Given the description of an element on the screen output the (x, y) to click on. 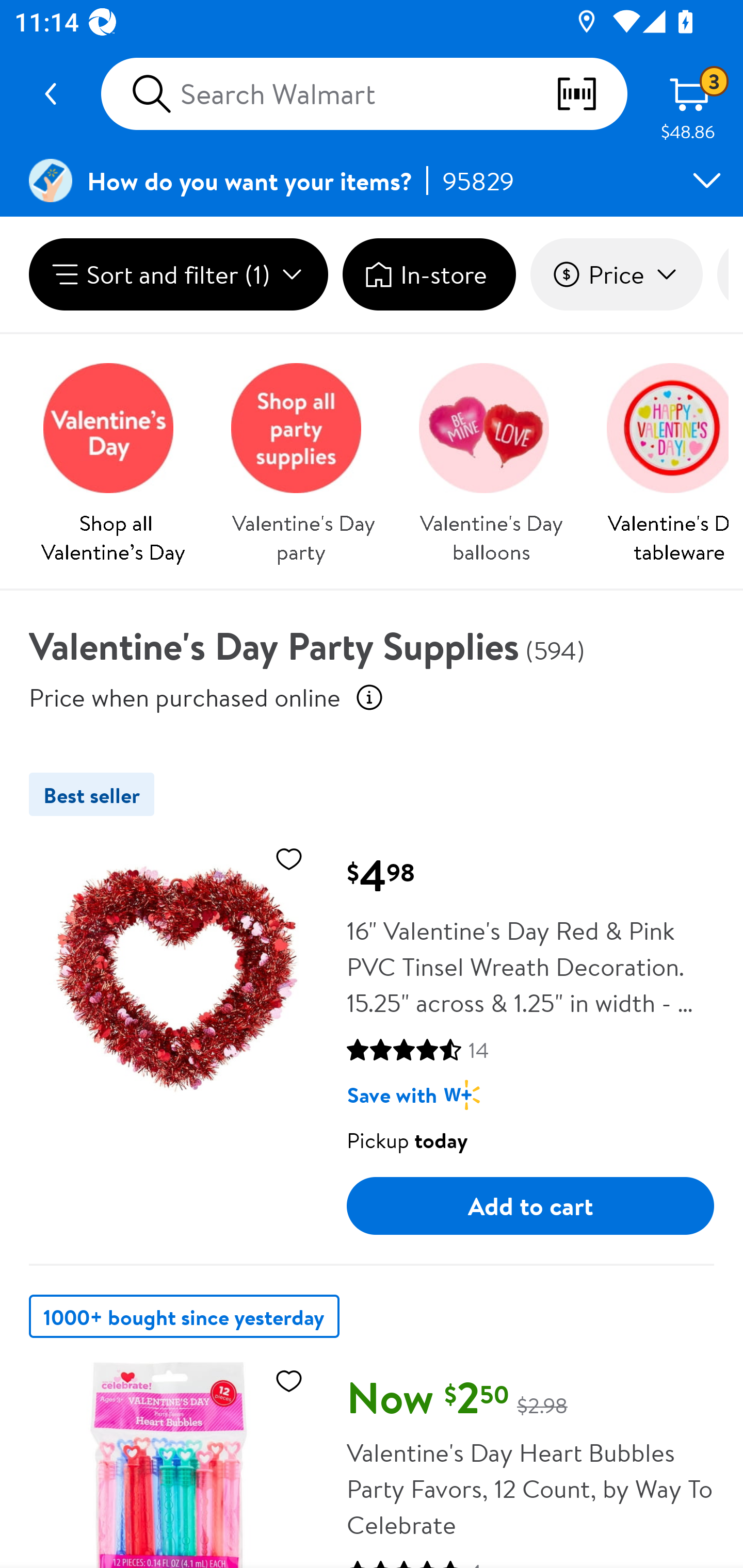
Navigate up (50, 93)
Search Walmart scan barcodes qr codes and more (364, 94)
scan barcodes qr codes and more (591, 94)
Filter by In-store, applied,  Filter icon In-store (428, 274)
Price when purchased online (184, 696)
Price when purchased online (369, 697)
Add to cart (530, 1206)
